Given the description of an element on the screen output the (x, y) to click on. 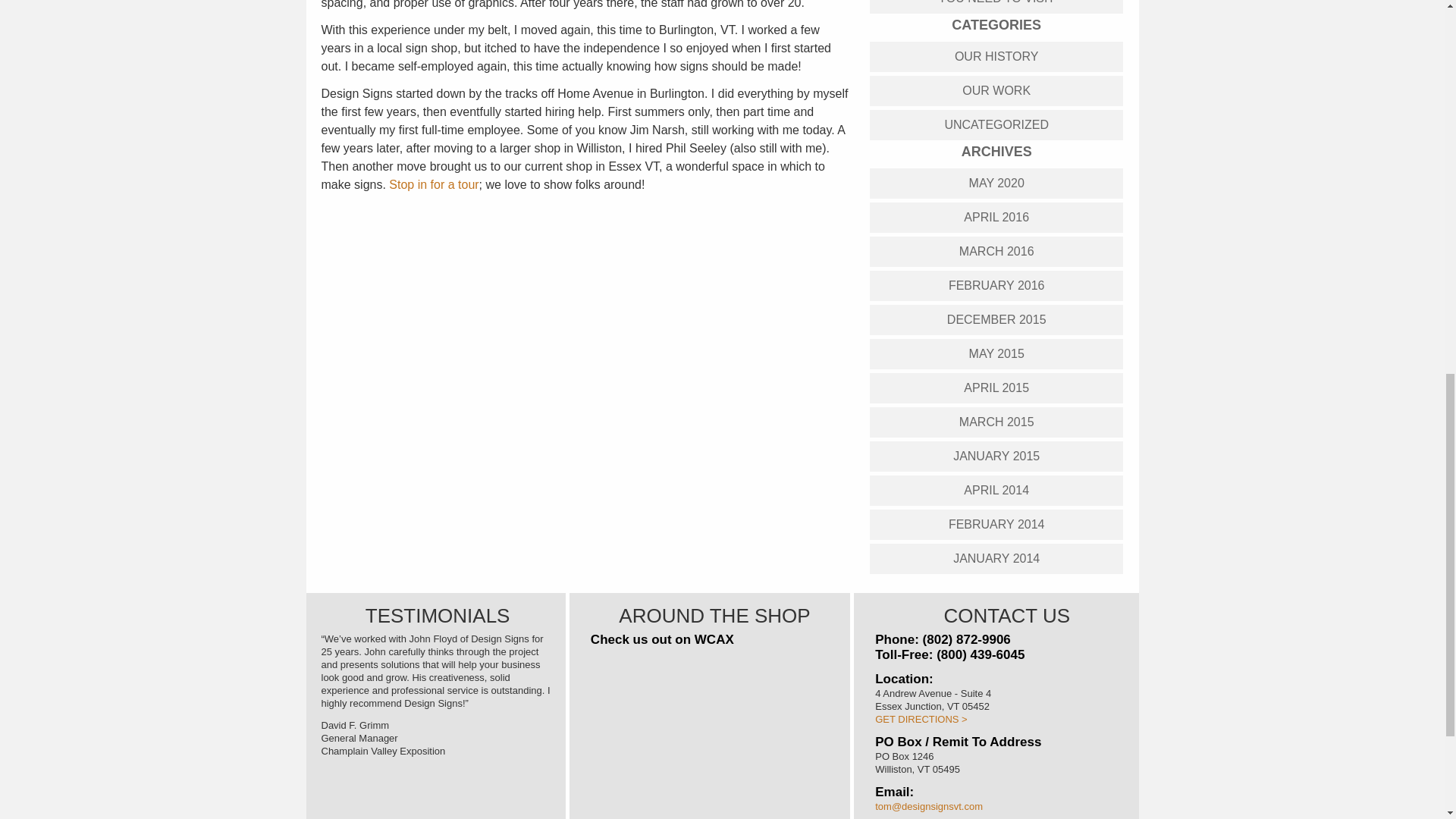
APRIL 2015 (996, 388)
OUR HISTORY (996, 55)
DECEMBER 2015 (996, 319)
MARCH 2015 (996, 421)
FEBRUARY 2016 (996, 285)
MAY 2015 (996, 353)
JANUARY 2014 (996, 557)
UNCATEGORIZED (996, 123)
FEBRUARY 2014 (996, 524)
MAY 2020 (996, 183)
